Given the description of an element on the screen output the (x, y) to click on. 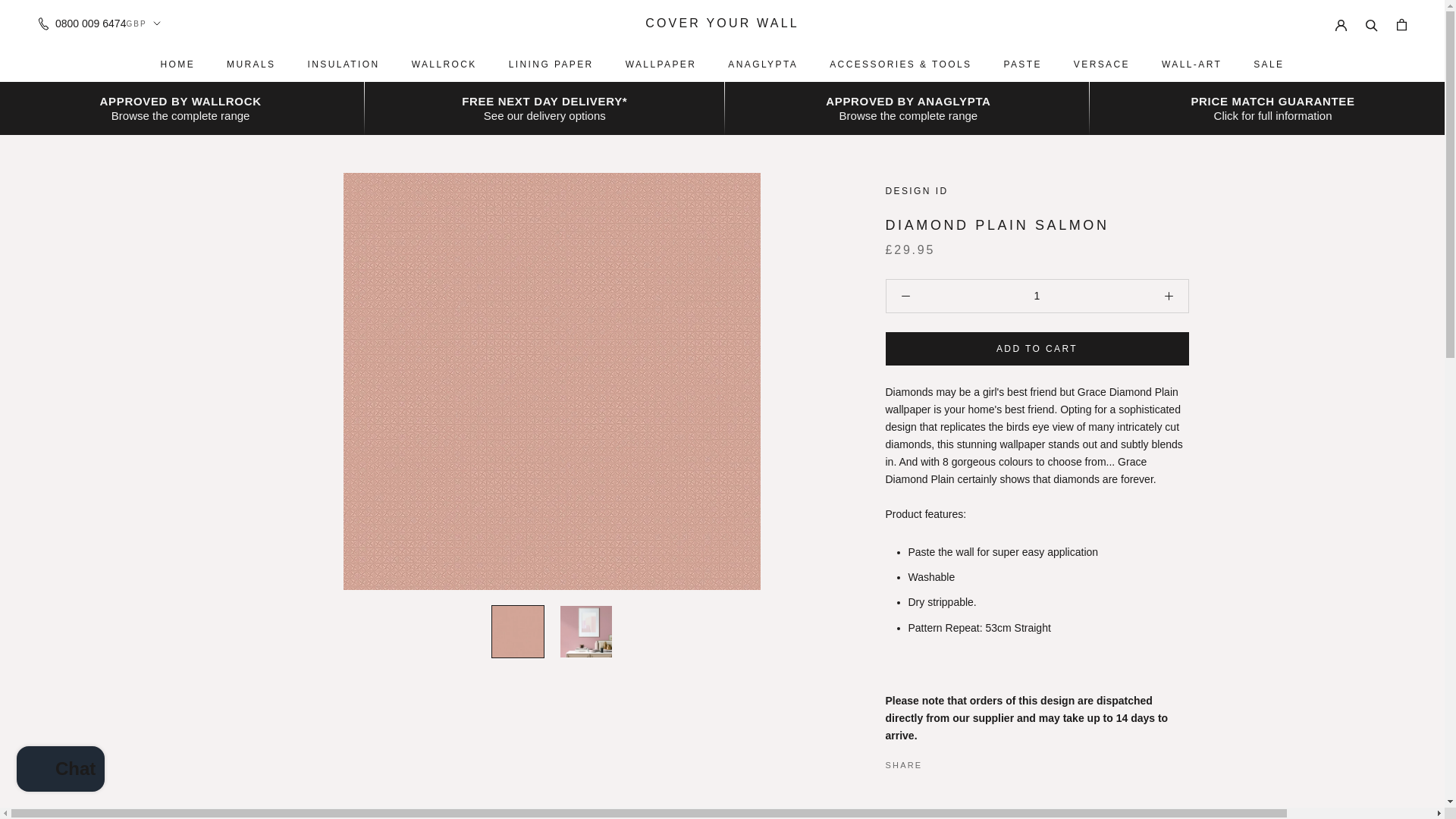
Currency selector (142, 23)
1 (1036, 295)
Shopify online store chat (60, 770)
